Given the description of an element on the screen output the (x, y) to click on. 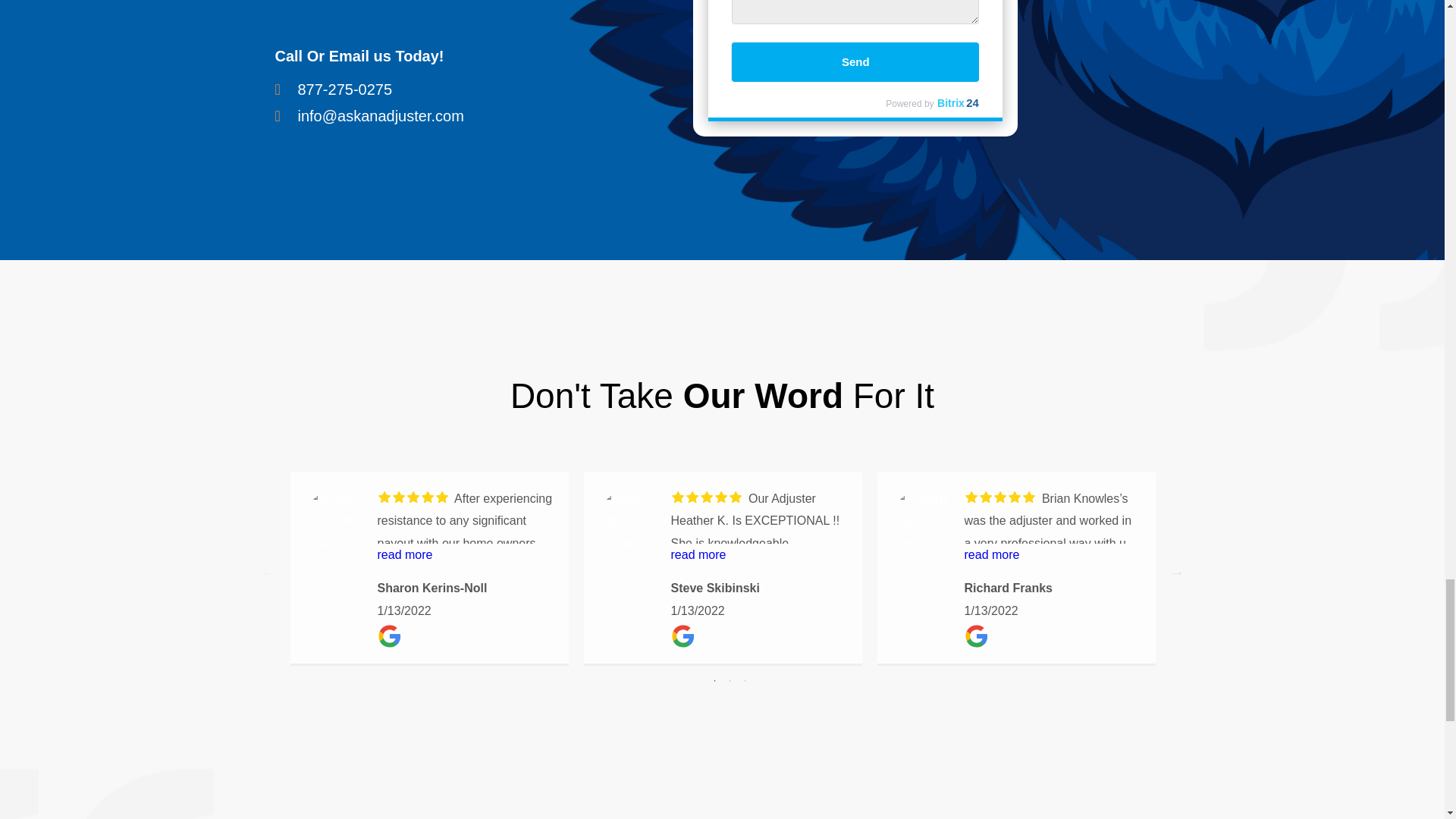
877-275-0275 (457, 89)
Send (855, 61)
Previous (267, 572)
